Given the description of an element on the screen output the (x, y) to click on. 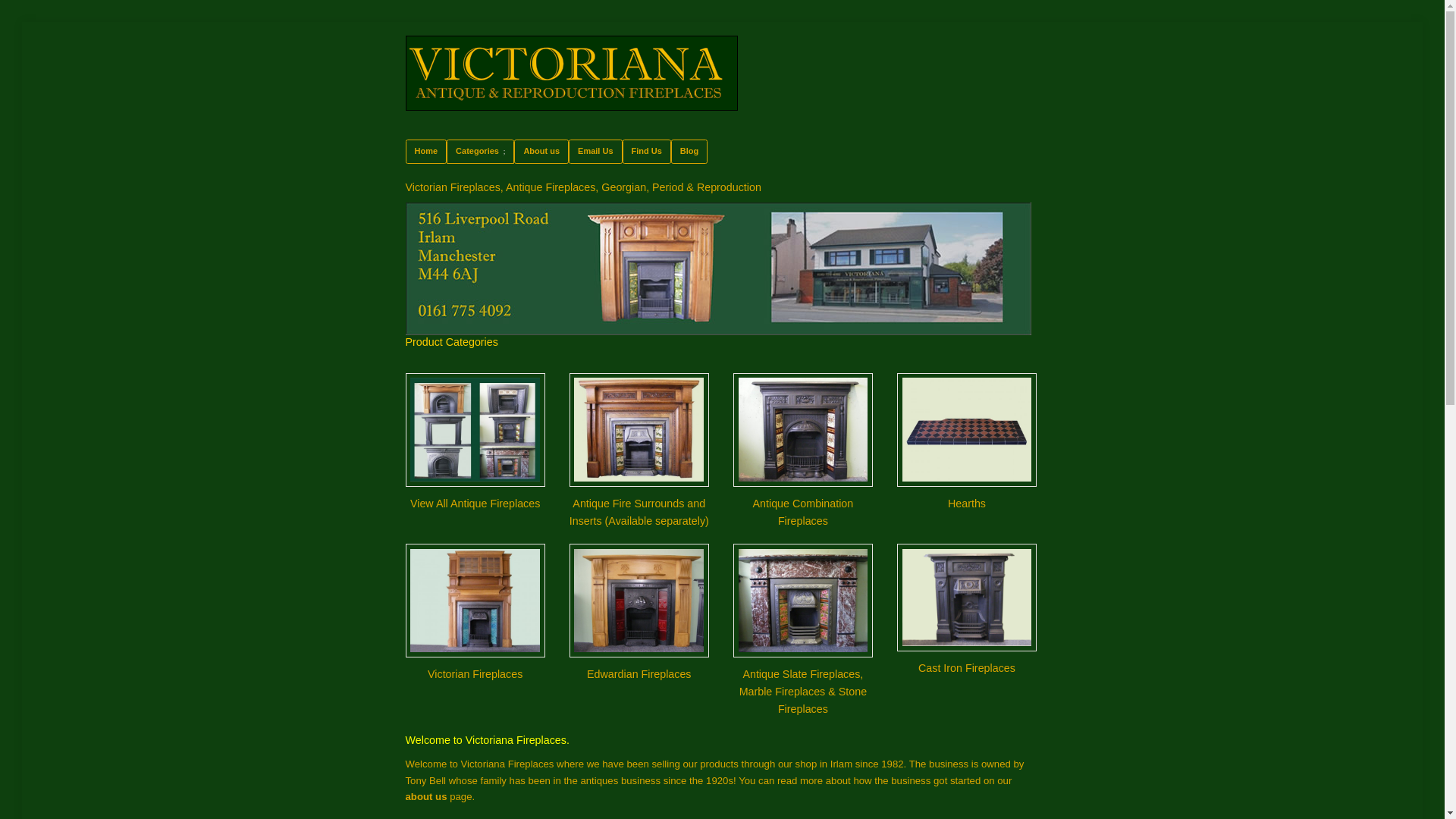
Blog (689, 150)
Edwardian Fireplaces (639, 613)
Victorian Fireplaces (475, 613)
about us (426, 796)
View All Antique Fireplaces (475, 442)
Cast Iron Fireplaces (966, 610)
Categories (479, 150)
Hearths (966, 442)
Email Us (595, 150)
About us (541, 150)
